Given the description of an element on the screen output the (x, y) to click on. 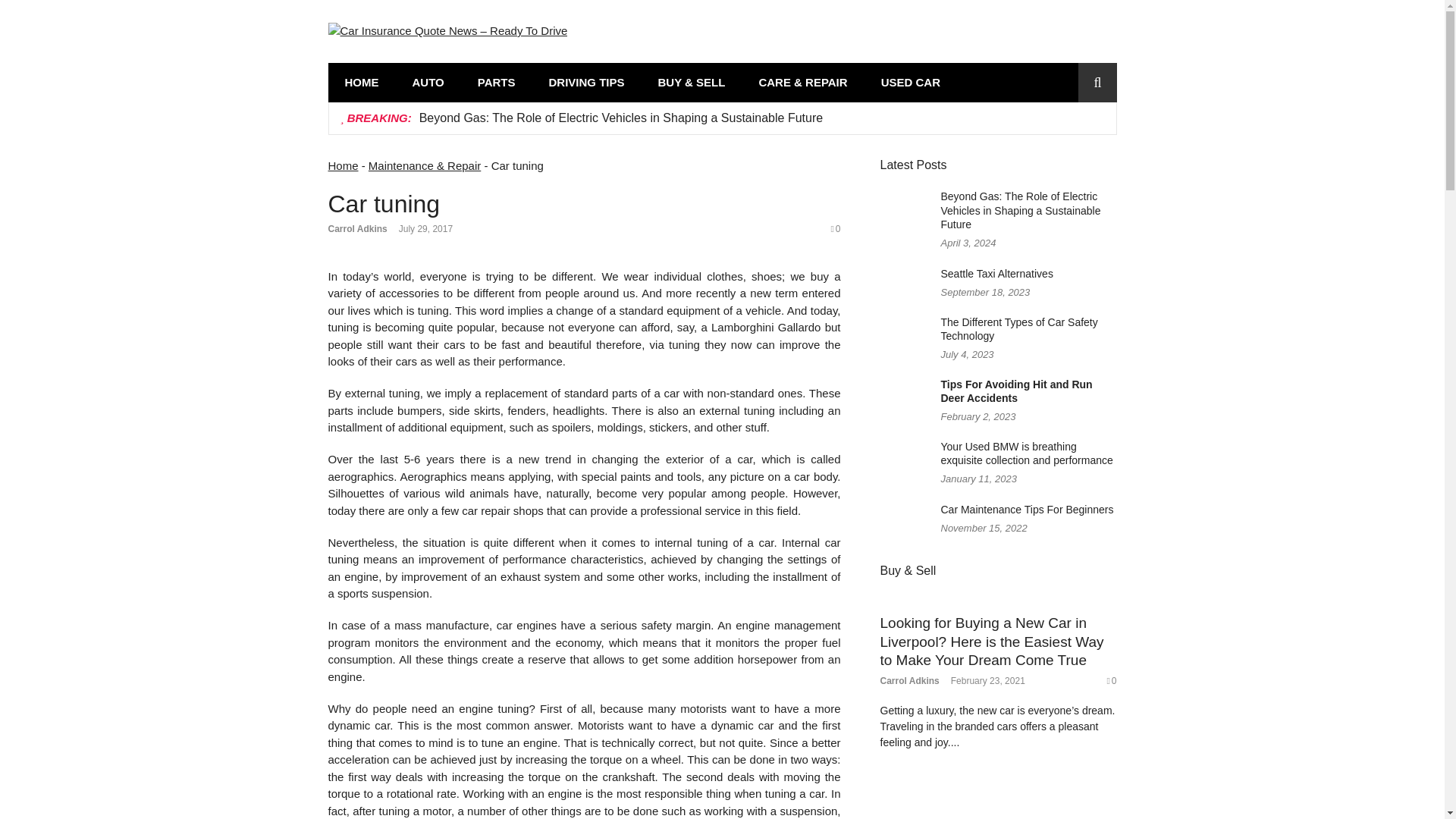
Seattle Taxi Alternatives (996, 273)
DRIVING TIPS (585, 82)
AUTO (428, 82)
Home (342, 164)
Carrol Adkins (357, 228)
USED CAR (910, 82)
PARTS (496, 82)
The Different Types of Car Safety Technology (1018, 329)
Seattle Taxi Alternatives (996, 273)
HOME (360, 82)
